Given the description of an element on the screen output the (x, y) to click on. 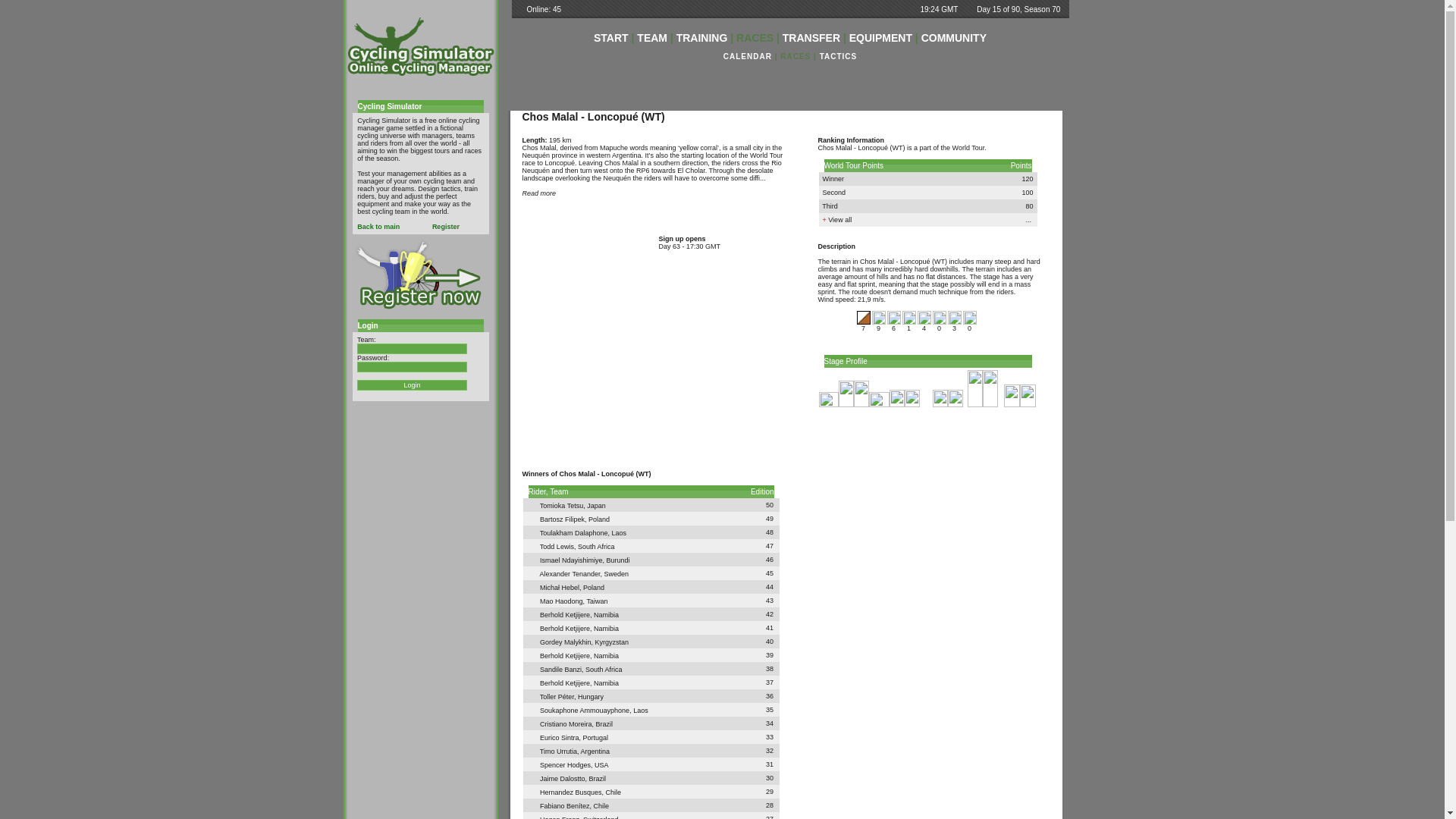
50 (769, 504)
South Africa (532, 544)
Login (411, 385)
TEAM (651, 37)
Poland (532, 517)
Laos (532, 708)
45 (769, 573)
47 (769, 545)
48 (769, 532)
TRANSFER (811, 37)
START (611, 37)
Argentina (678, 116)
Poland (599, 519)
Burundi (532, 558)
Burundi (618, 560)
